Given the description of an element on the screen output the (x, y) to click on. 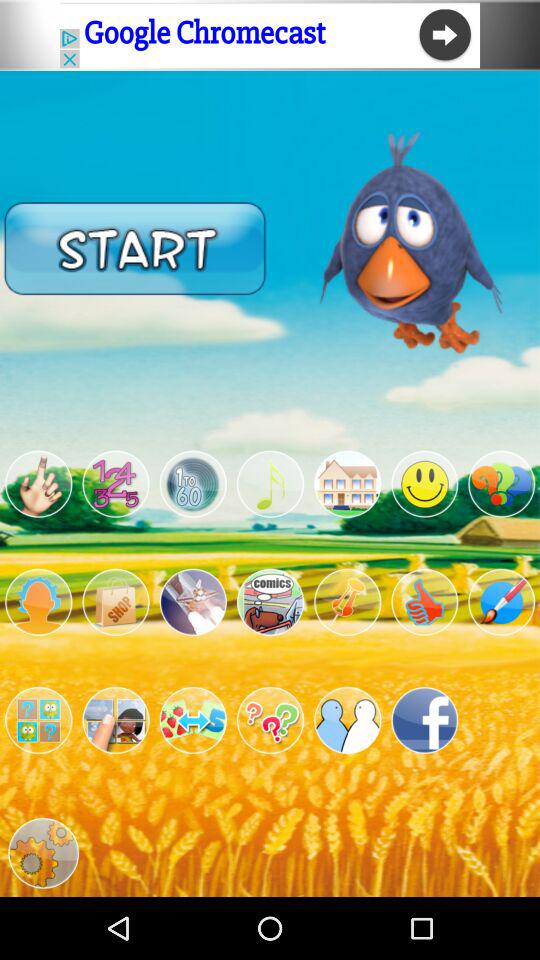
game menu option (424, 484)
